Given the description of an element on the screen output the (x, y) to click on. 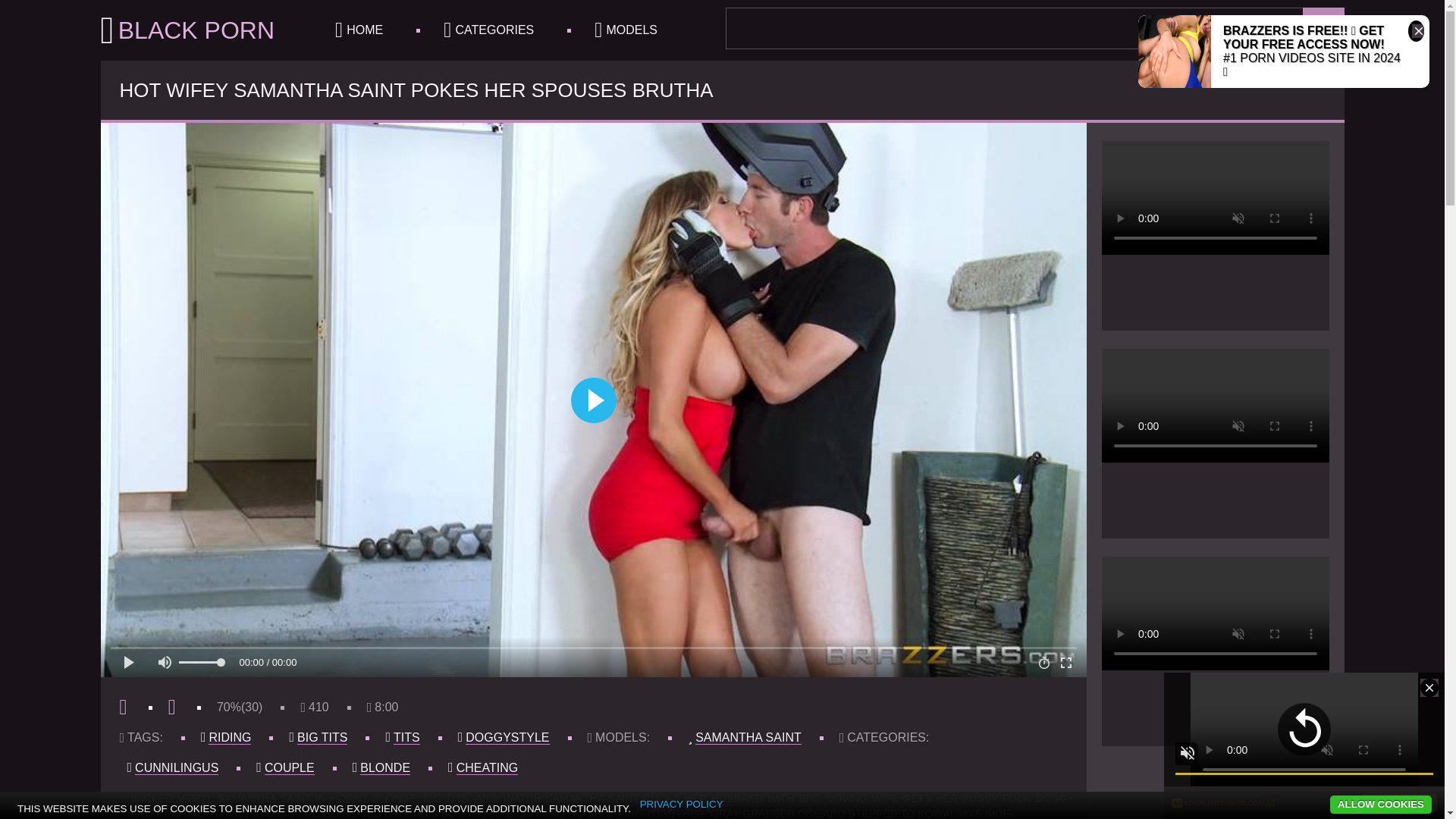
Find (1323, 28)
CATEGORIES (489, 30)
BIG TITS (322, 737)
MODELS (626, 30)
BLONDE (384, 767)
BLACK PORN (187, 30)
TITS (406, 737)
COUPLE (289, 767)
RIDING (229, 737)
SAMANTHA SAINT (748, 737)
DOGGYSTYLE (506, 737)
CUNNILINGUS (176, 767)
CHEATING (487, 767)
